Given the description of an element on the screen output the (x, y) to click on. 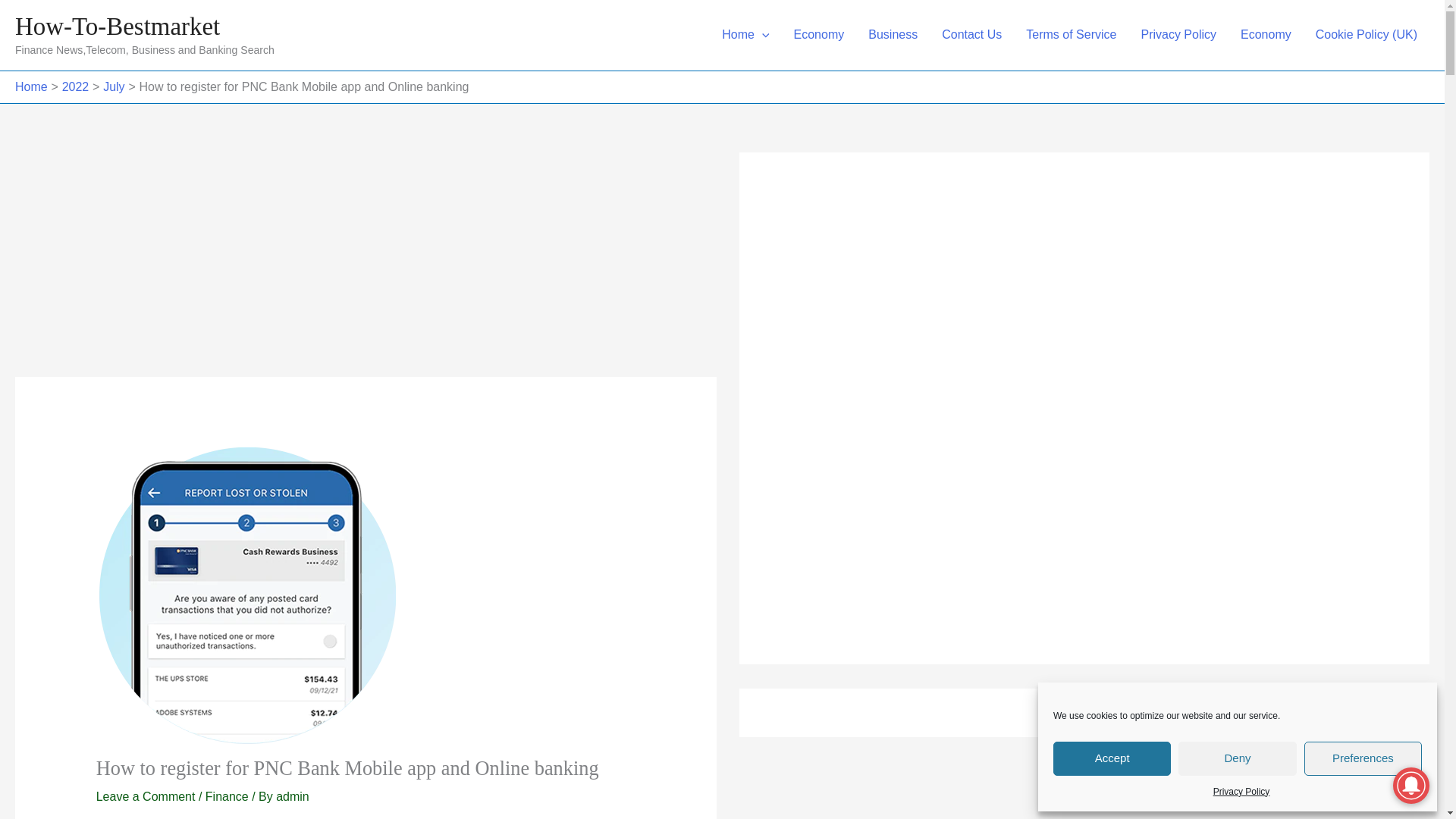
Privacy Policy (1178, 34)
Accept (1111, 758)
Privacy Policy (1240, 791)
Deny (1236, 758)
Economy (819, 34)
Business (893, 34)
View all posts by admin (292, 796)
Preferences (1363, 758)
Terms of Service (1070, 34)
Contact Us (971, 34)
Home (745, 34)
Economy (1265, 34)
How-To-Bestmarket (116, 26)
